Given the description of an element on the screen output the (x, y) to click on. 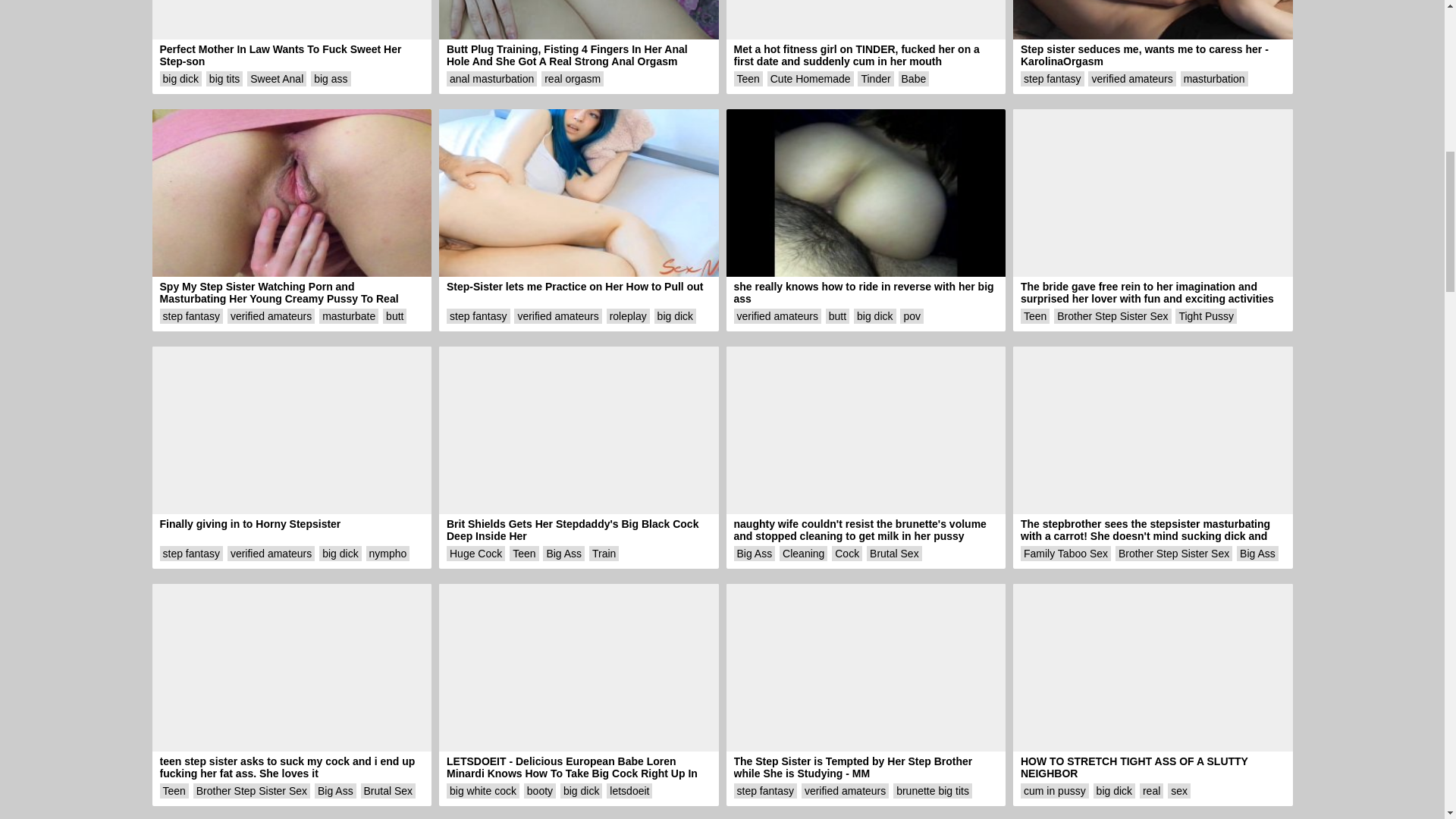
big dick (179, 78)
real orgasm (572, 78)
verified amateurs (1130, 78)
Cute Homemade (810, 78)
Tinder (875, 78)
big ass (330, 78)
Teen (747, 78)
Perfect Mother In Law Wants To Fuck Sweet Her Step-son (290, 33)
Babe (914, 78)
